Given the description of an element on the screen output the (x, y) to click on. 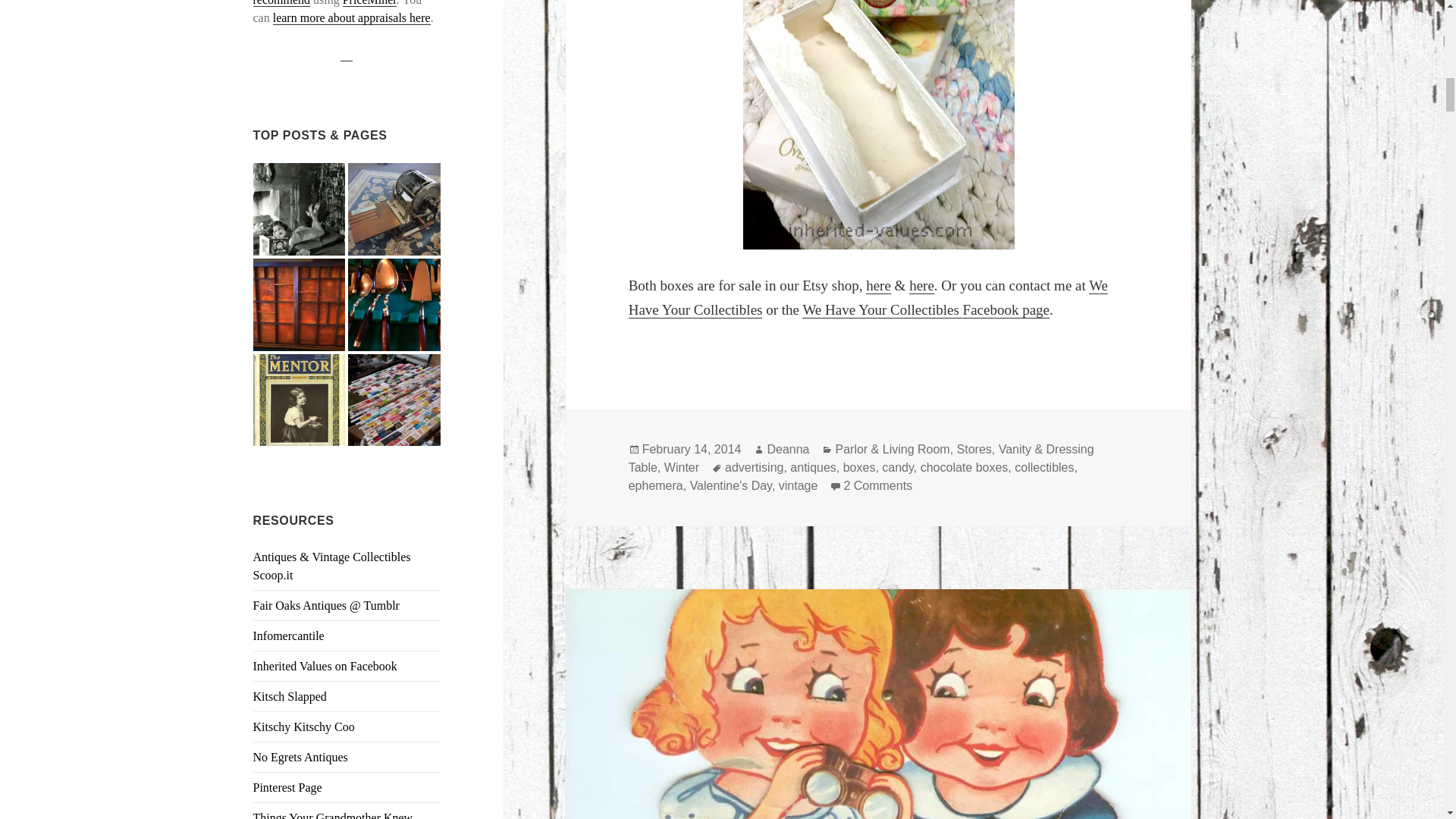
A Cool Way To Display Your Matchbook Collection (394, 399)
The Mentor Magazine (299, 399)
Vintage Bronzeware Flatware From Thailand (394, 304)
It's Not a Ditto Machine (394, 208)
